Given the description of an element on the screen output the (x, y) to click on. 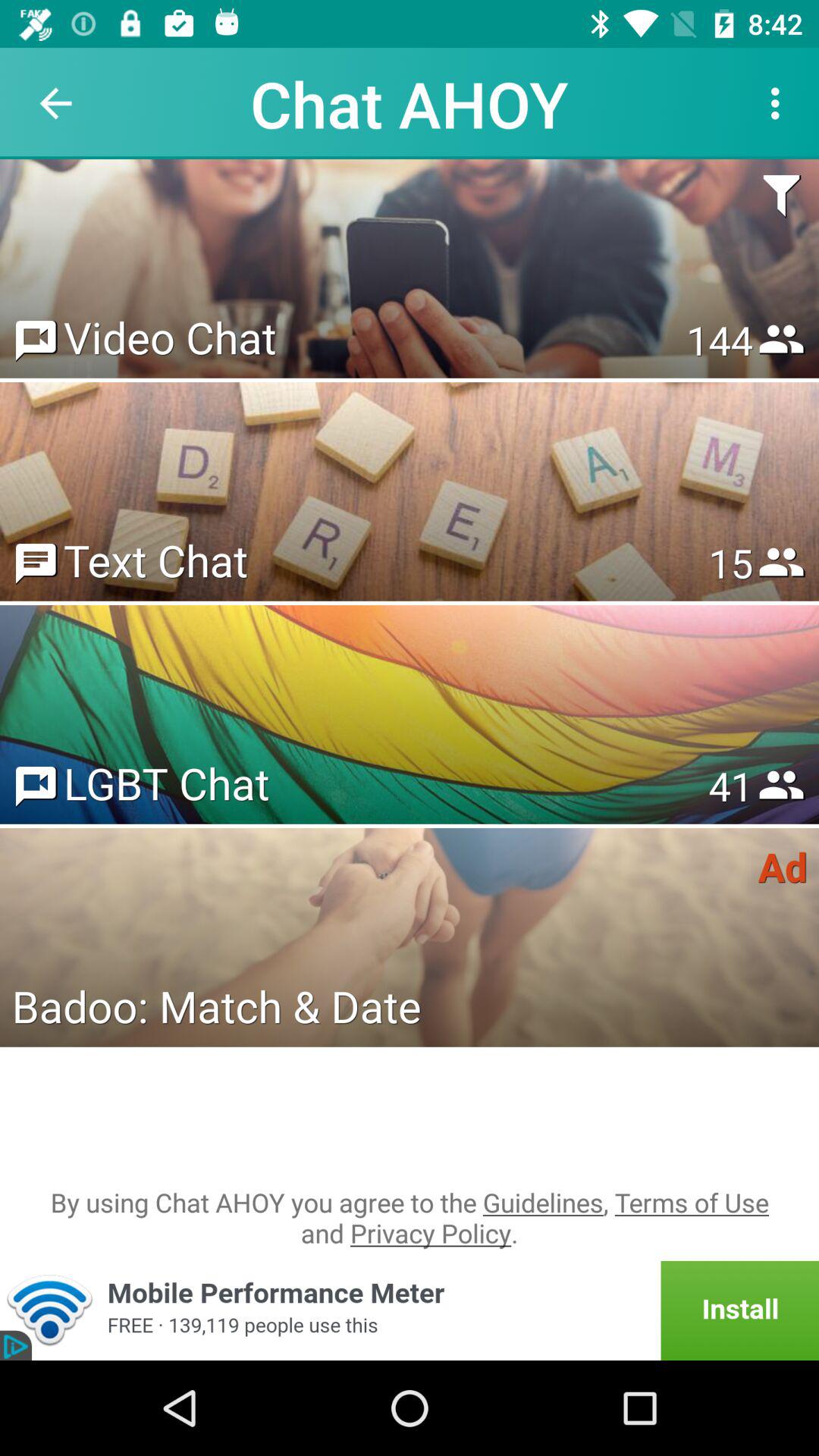
select item above the 153 item (778, 199)
